Given the description of an element on the screen output the (x, y) to click on. 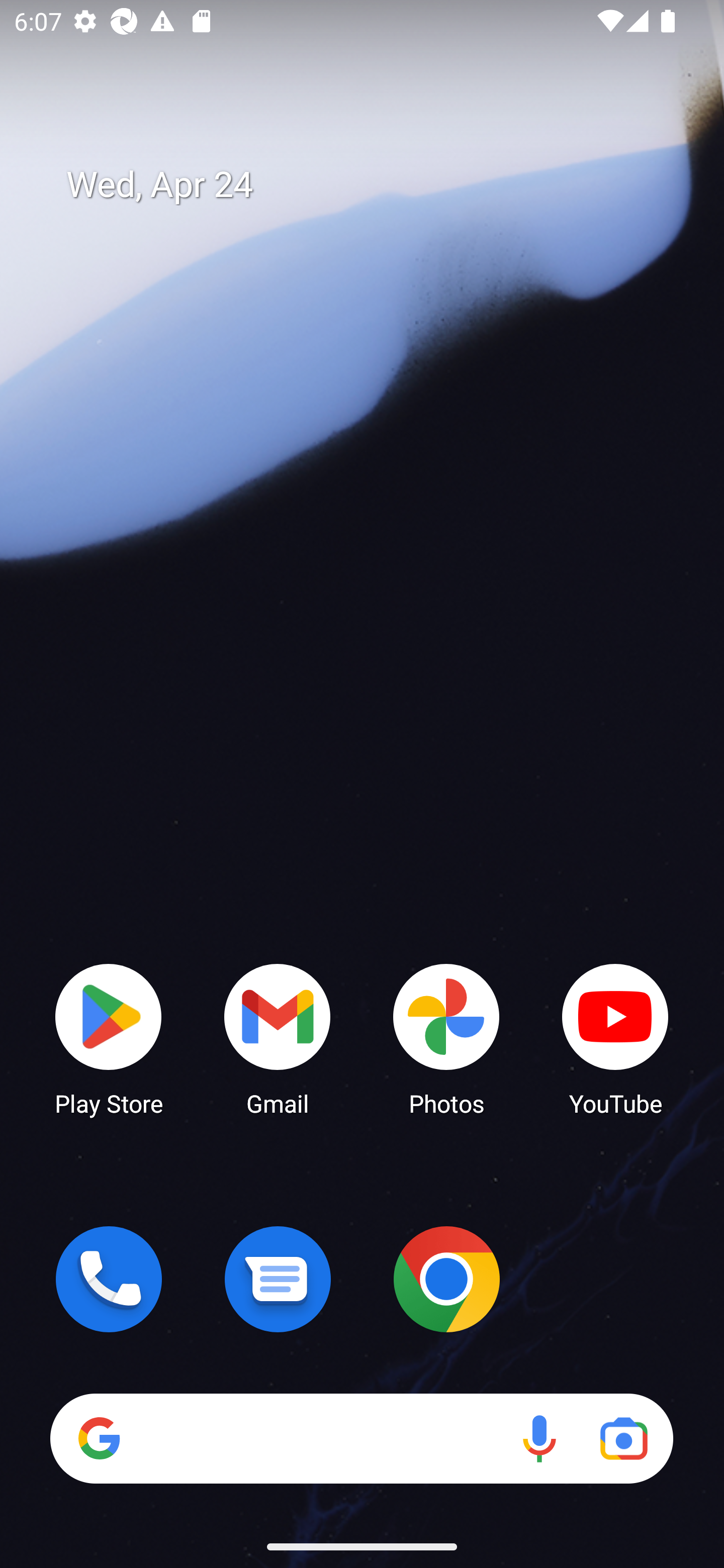
Wed, Apr 24 (375, 184)
Play Store (108, 1038)
Gmail (277, 1038)
Photos (445, 1038)
YouTube (615, 1038)
Phone (108, 1279)
Messages (277, 1279)
Chrome (446, 1279)
Search Voice search Google Lens (361, 1438)
Voice search (539, 1438)
Google Lens (623, 1438)
